Given the description of an element on the screen output the (x, y) to click on. 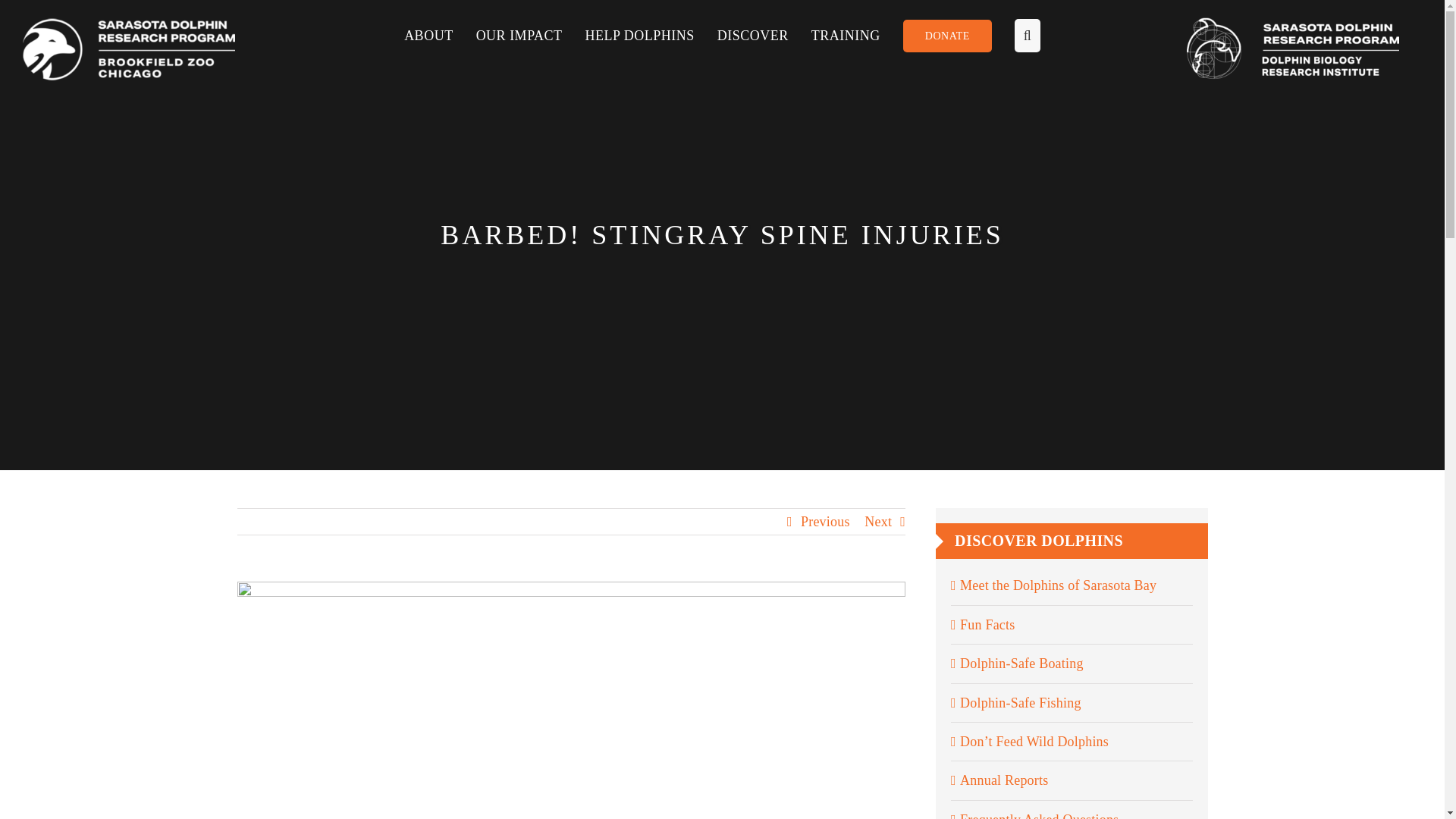
HELP DOLPHINS (651, 35)
ABOUT (440, 35)
DISCOVER (763, 35)
OUR IMPACT (530, 35)
Search (1016, 35)
